Given the description of an element on the screen output the (x, y) to click on. 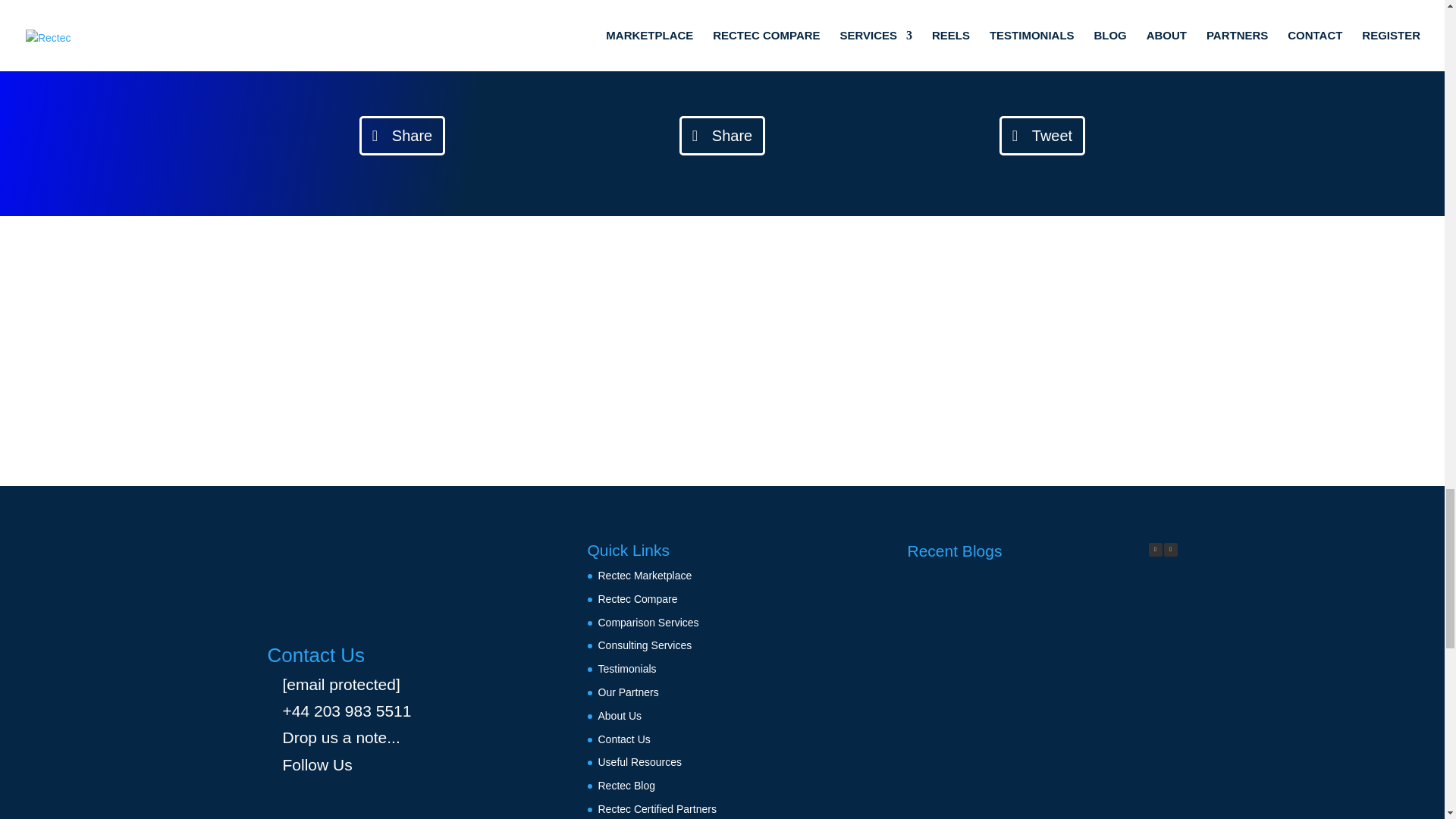
Next (1169, 549)
Rectec Compare (636, 598)
Our Partners (627, 692)
Share (722, 135)
About Us (619, 715)
Tweet (1041, 135)
Share (402, 135)
Contact Us (622, 739)
Rectec Marketplace (643, 575)
Consulting Services (643, 645)
